Given the description of an element on the screen output the (x, y) to click on. 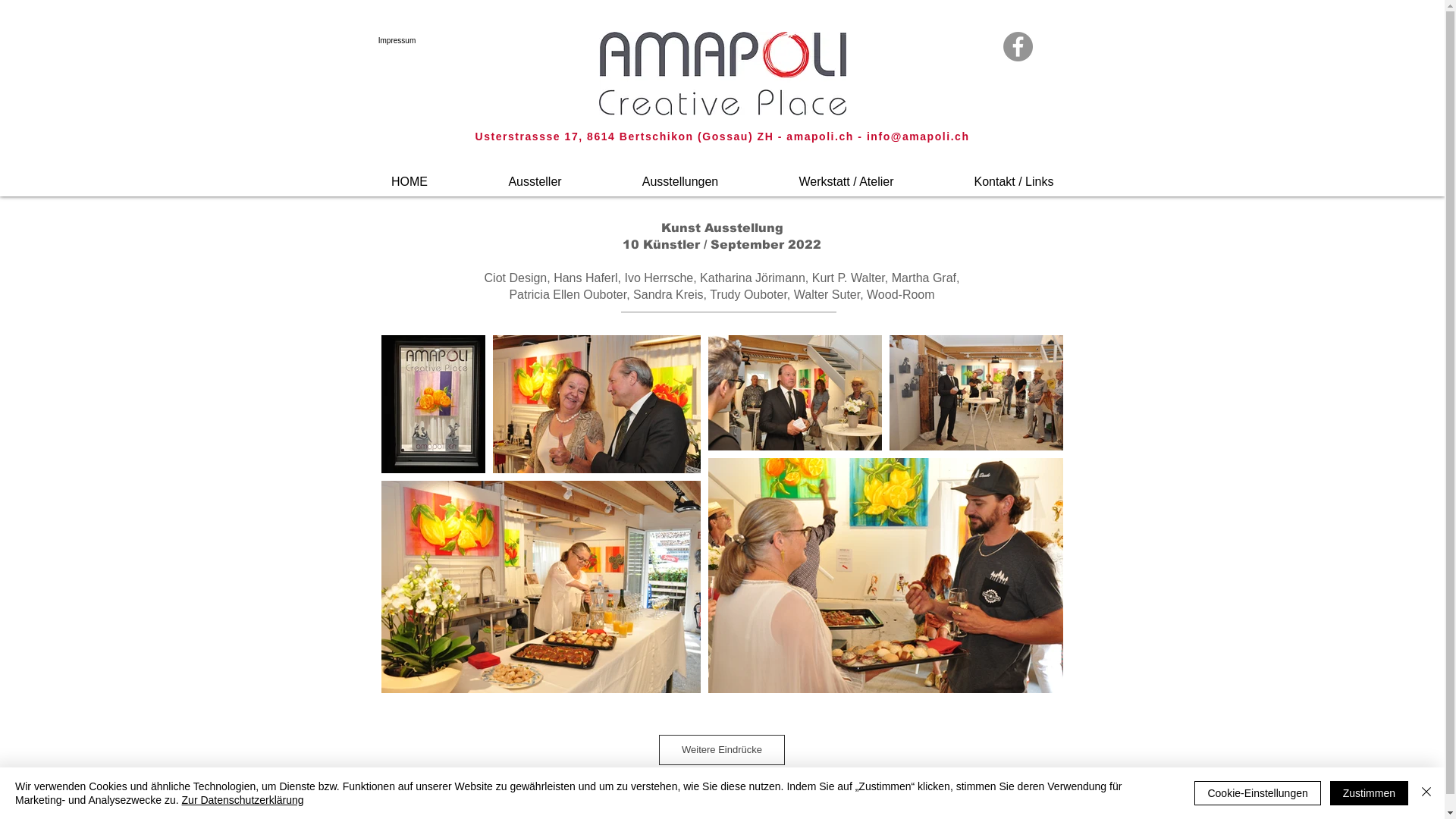
Impressum Element type: text (396, 40)
info@amapoli.ch Element type: text (917, 136)
Werkstatt / Atelier Element type: text (845, 175)
Zustimmen Element type: text (1369, 793)
Aussteller Element type: text (535, 175)
Cookie-Einstellungen Element type: text (1257, 793)
HOME Element type: text (408, 175)
Ausstellungen Element type: text (680, 175)
Kontakt / Links Element type: text (1014, 175)
